Given the description of an element on the screen output the (x, y) to click on. 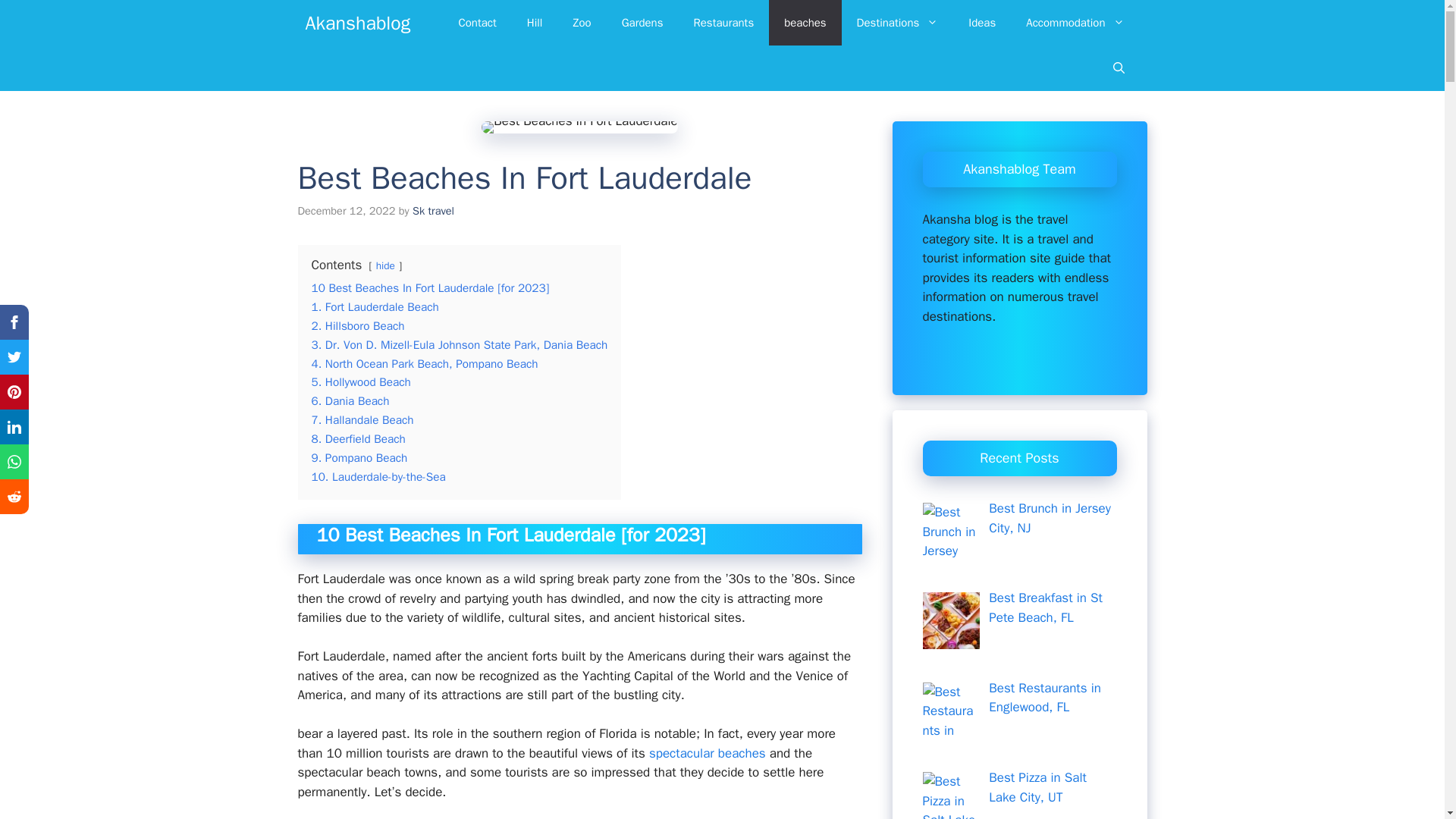
View all posts by Sk travel (433, 210)
7. Hallandale Beach (362, 419)
8. Deerfield Beach (357, 438)
hide (384, 265)
3. Dr. Von D. Mizell-Eula Johnson State Park, Dania Beach (459, 344)
9. Pompano Beach (359, 458)
Contact (476, 22)
spectacular beaches (707, 753)
Restaurants (723, 22)
Akanshablog (357, 22)
4. North Ocean Park Beach, Pompano Beach (424, 363)
beaches (804, 22)
Ideas (981, 22)
Destinations (897, 22)
Sk travel (433, 210)
